Given the description of an element on the screen output the (x, y) to click on. 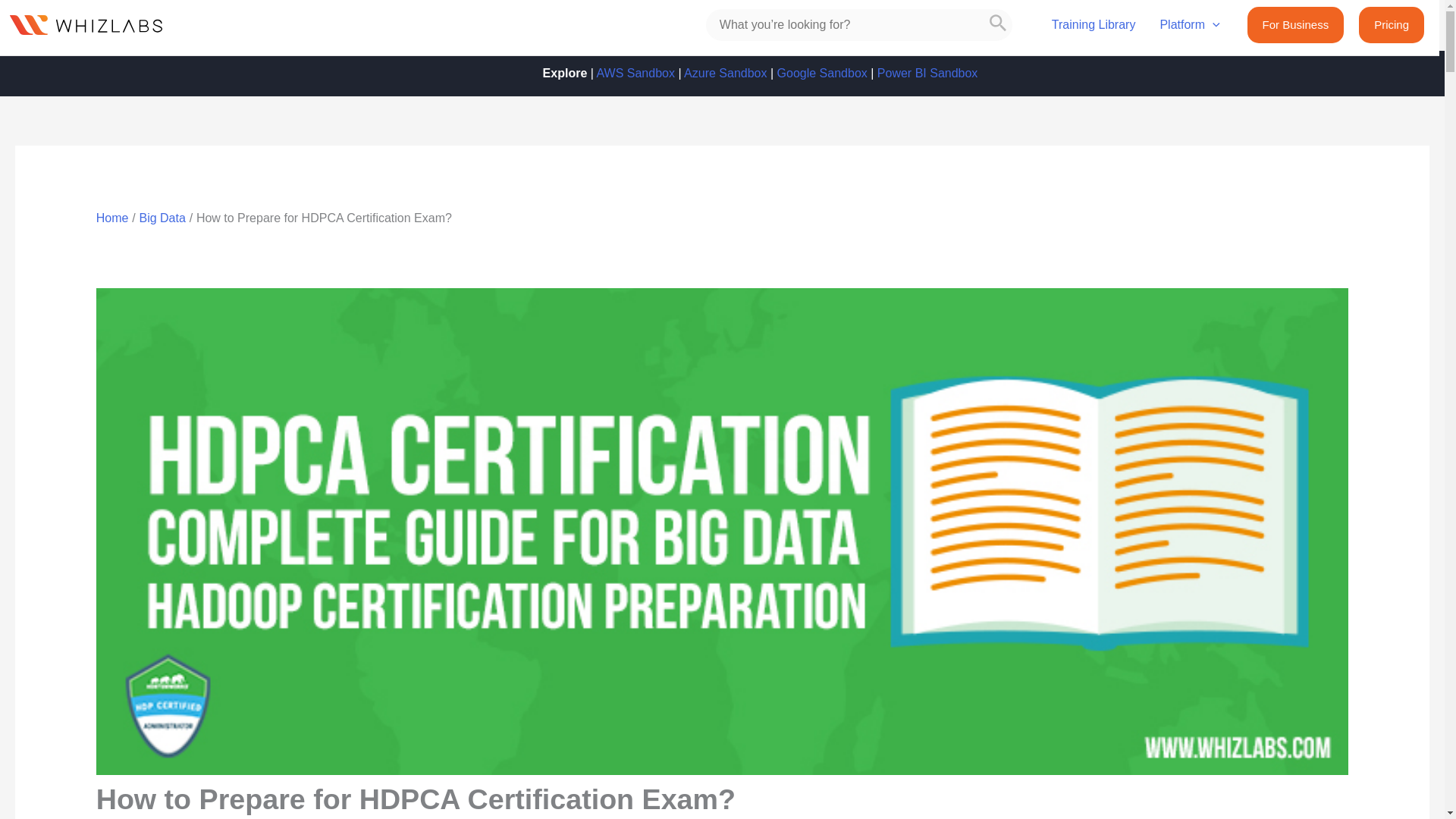
Search (997, 24)
Home (112, 217)
Google Sandbox (822, 72)
Azure Sandbox (725, 72)
Platform (1189, 27)
Big Data (161, 217)
For Business (1295, 24)
Training Library (1093, 27)
Power BI Sandbox (927, 72)
AWS Sandbox (634, 72)
Pricing (1390, 24)
Training Library (1093, 27)
